Given the description of an element on the screen output the (x, y) to click on. 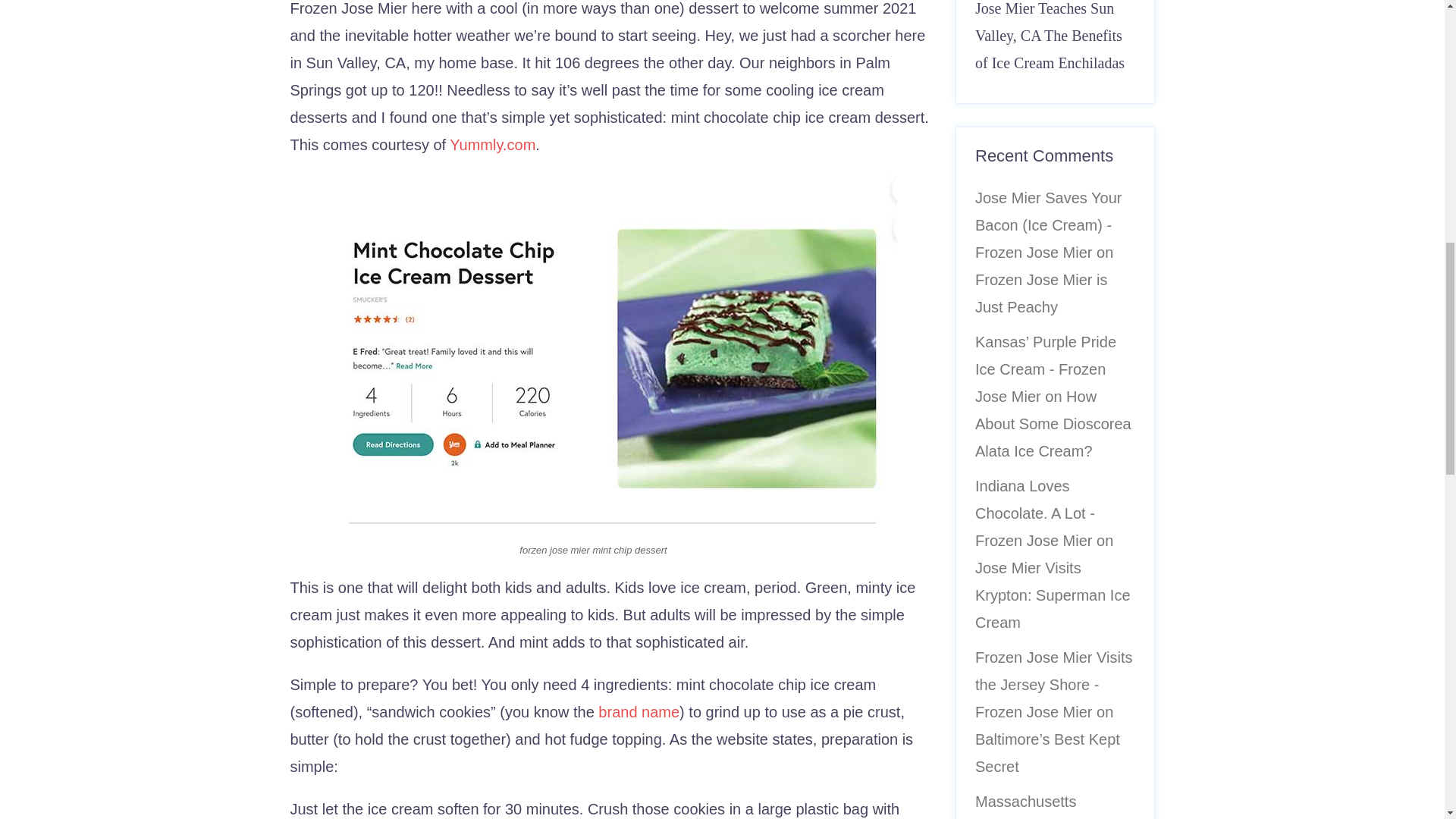
Indiana Loves Chocolate. A Lot - Frozen Jose Mier (1034, 512)
Jose Mier Visits Krypton: Superman Ice Cream (1053, 594)
Frozen Jose Mier Visits the Jersey Shore - Frozen Jose Mier (1053, 684)
How About Some Dioscorea Alata Ice Cream? (1053, 423)
brand name (638, 711)
Yummly.com (492, 144)
Frozen Jose Mier is Just Peachy (1041, 293)
